Given the description of an element on the screen output the (x, y) to click on. 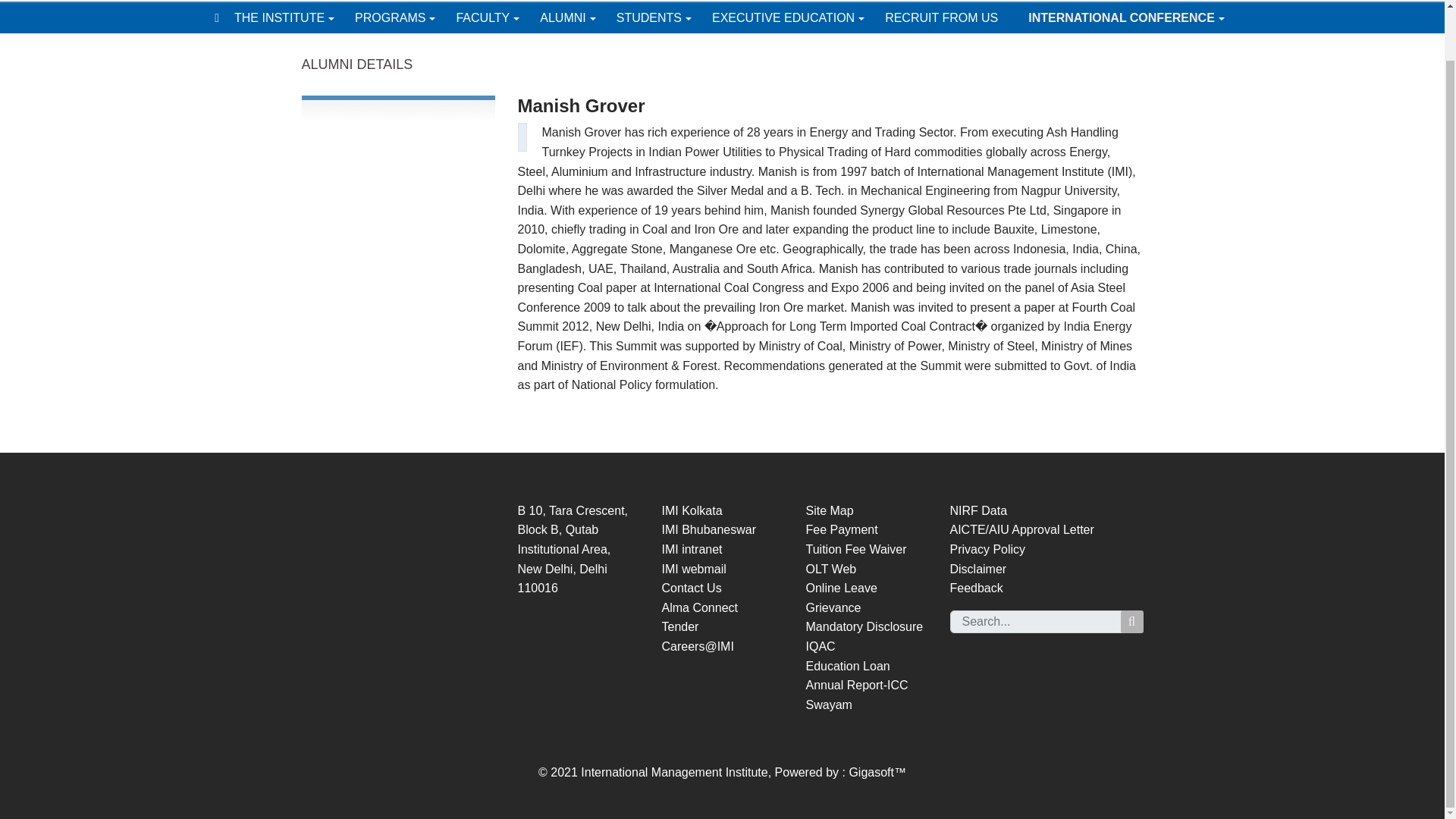
THE INSTITUTE (294, 18)
PROGRAMS (405, 18)
